Given the description of an element on the screen output the (x, y) to click on. 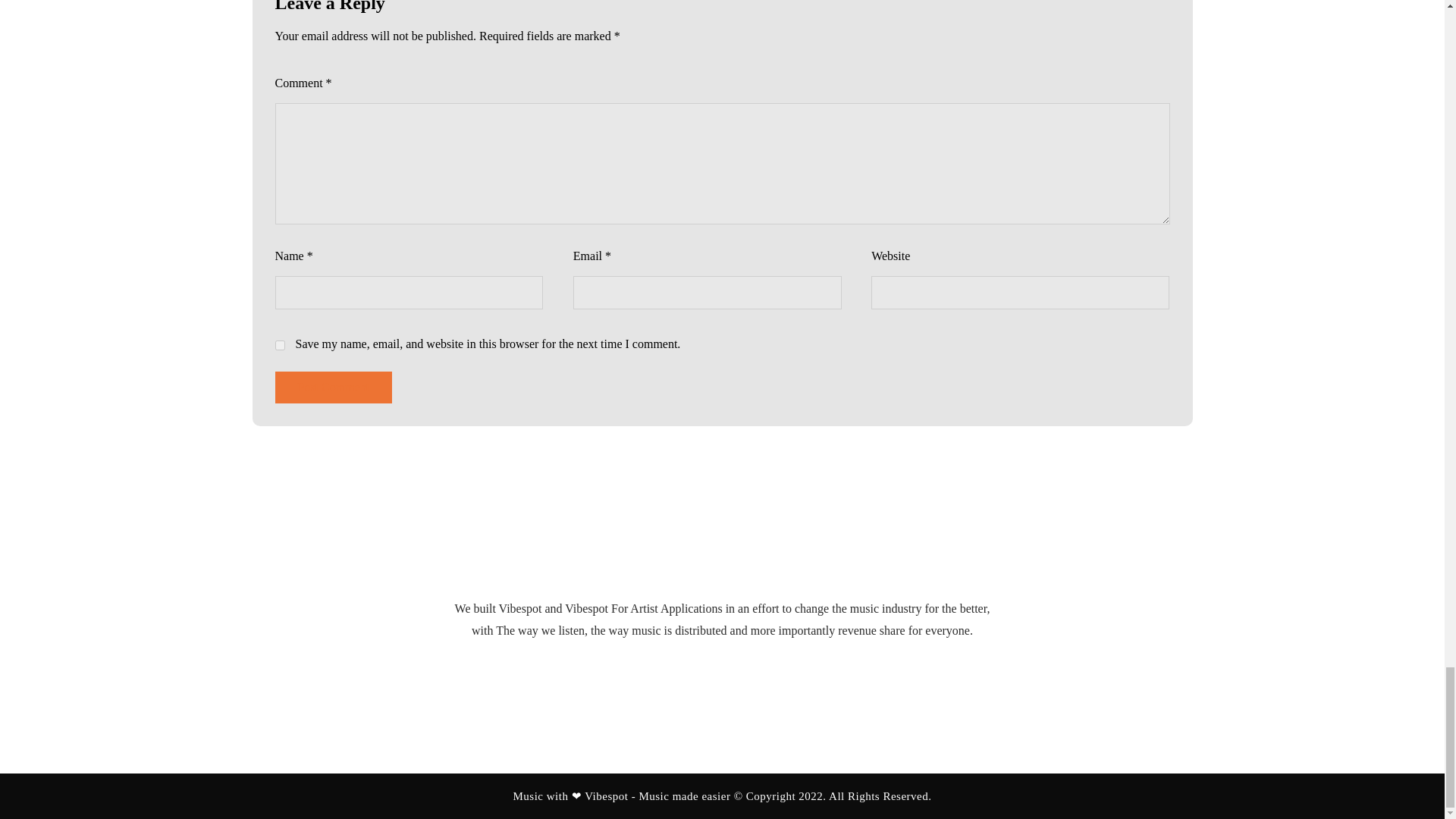
yes (279, 345)
Post Comment (333, 387)
